Given the description of an element on the screen output the (x, y) to click on. 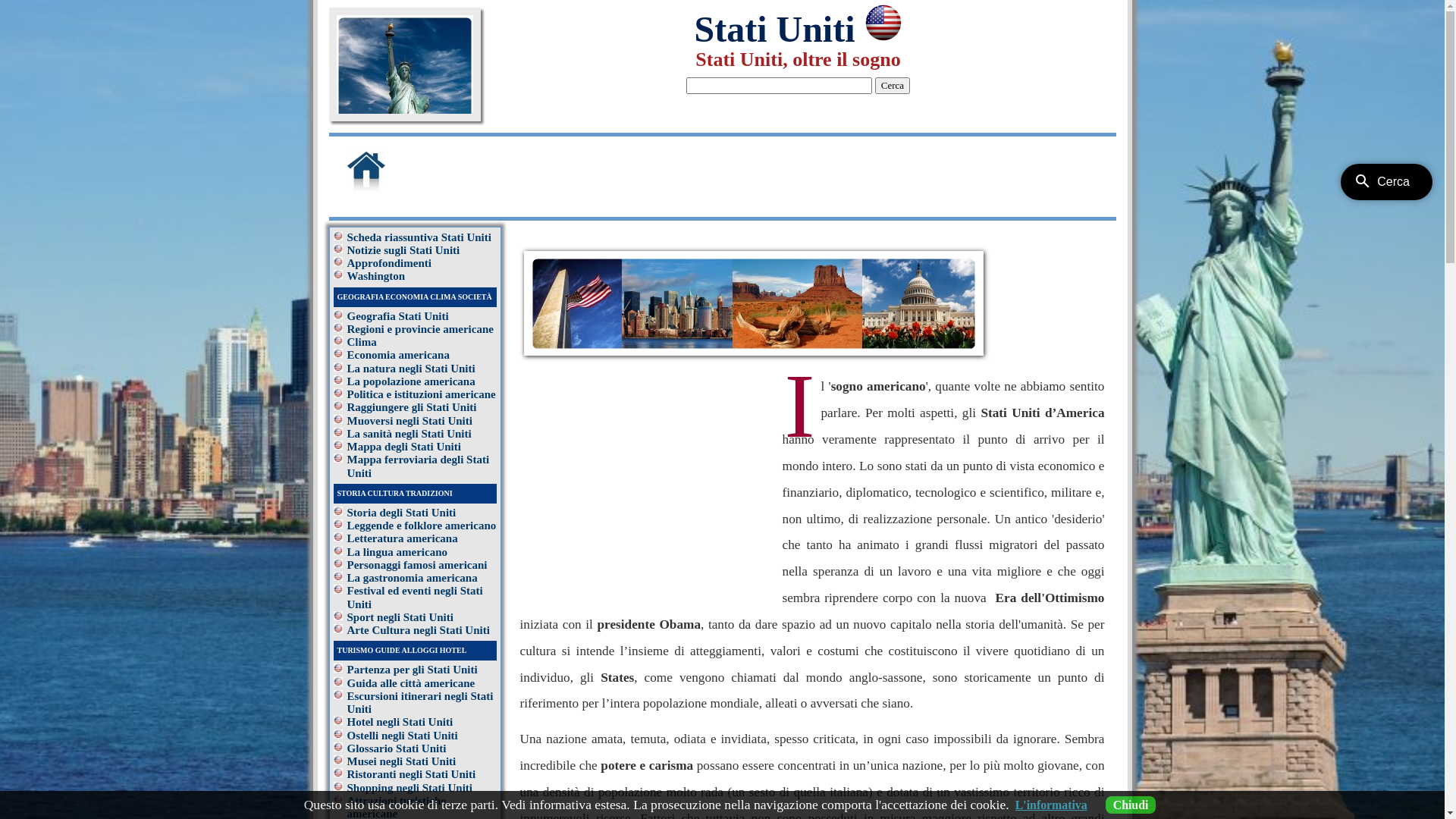
Letteratura americana Element type: text (402, 538)
Muoversi negli Stati Uniti Element type: text (409, 420)
Clima Element type: text (361, 341)
Chiudi Element type: text (1130, 804)
La lingua americano Element type: text (397, 552)
Sport negli Stati Uniti Element type: text (400, 617)
Washington Element type: text (376, 275)
Raggiungere gli Stati Uniti Element type: text (411, 407)
Arte Cultura negli Stati Uniti Element type: text (418, 630)
Ristoranti negli Stati Uniti Element type: text (411, 774)
Advertisement Element type: hover (762, 172)
Musei negli Stati Uniti Element type: text (401, 761)
L'informativa Element type: text (1051, 804)
Shopping negli Stati Uniti Element type: text (409, 787)
Economia americana Element type: text (398, 354)
Scheda riassuntiva Stati Uniti Element type: text (419, 236)
Personaggi famosi americani Element type: text (417, 564)
Regioni e provincie americane Element type: text (420, 329)
Advertisement Element type: hover (647, 479)
Ostelli negli Stati Uniti Element type: text (402, 735)
Partenza per gli Stati Uniti Element type: text (412, 669)
La gastronomia americana Element type: text (412, 577)
Festival ed eventi negli Stati Uniti Element type: text (415, 596)
La popolazione americana Element type: text (411, 381)
Cerca Element type: text (892, 85)
   Element type: text (388, 189)
Mappa ferroviaria degli Stati Uniti Element type: text (418, 465)
Politica e istituzioni americane Element type: text (421, 394)
La natura negli Stati Uniti Element type: text (411, 368)
Glossario Stati Uniti Element type: text (396, 748)
Storia degli Stati Uniti Element type: text (401, 512)
Hotel negli Stati Uniti Element type: text (400, 721)
Notizie sugli Stati Uniti Element type: text (403, 250)
Geografia Stati Uniti Element type: text (397, 315)
Approfondimenti Element type: text (389, 263)
Stati Uniti Element type: text (797, 29)
Mappa degli Stati Uniti Element type: text (404, 446)
Escursioni itinerari negli Stati Uniti Element type: text (420, 702)
Leggende e folklore americano Element type: text (421, 525)
